Given the description of an element on the screen output the (x, y) to click on. 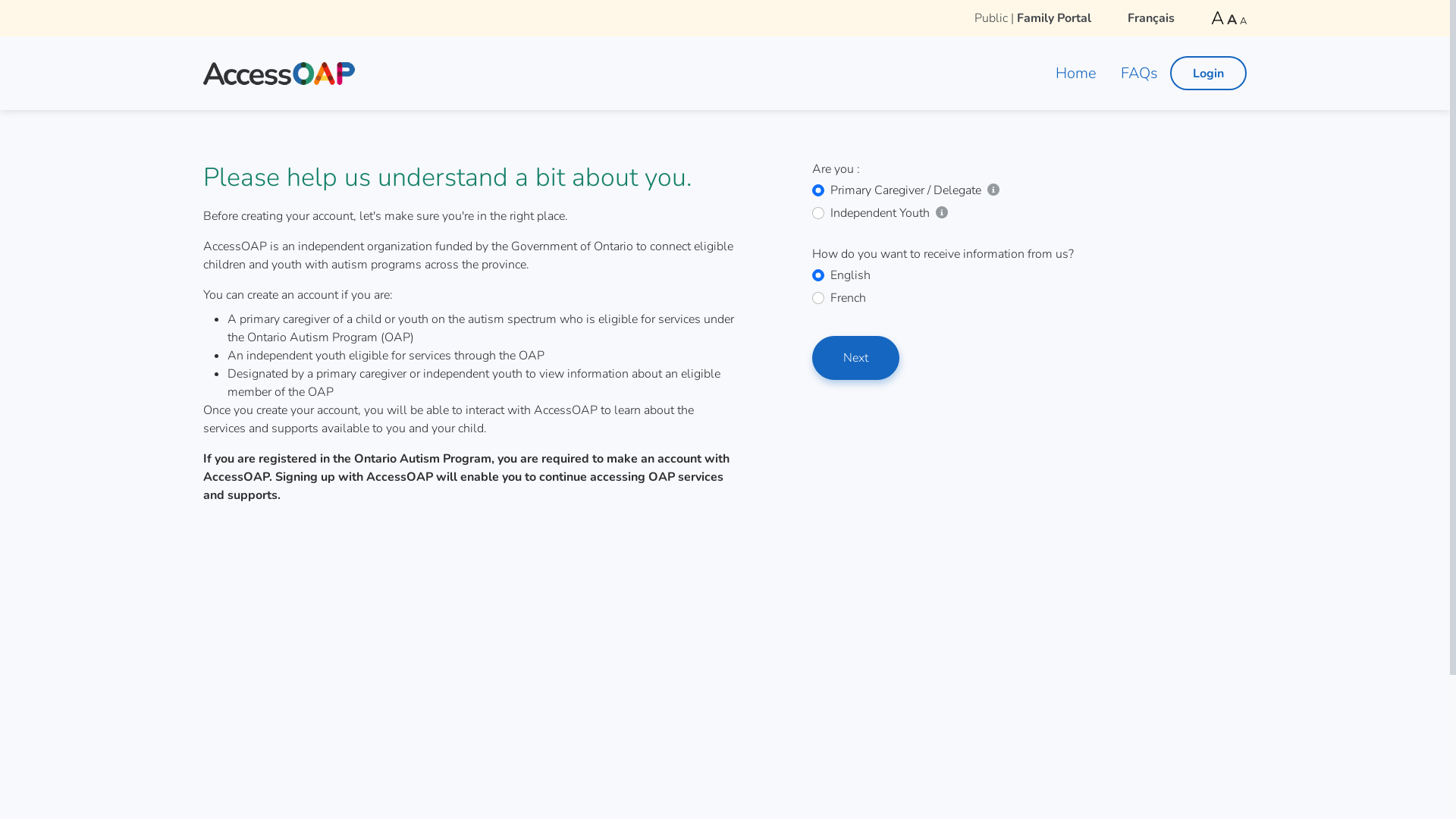
Family Portal Element type: text (1053, 17)
FAQs Element type: text (1139, 72)
Login Element type: text (1208, 73)
Public Element type: text (990, 17)
Next Element type: text (855, 357)
A Element type: text (1217, 17)
AccessOAP Element type: text (278, 72)
A Element type: text (1242, 21)
Home Element type: text (1075, 72)
A Element type: text (1231, 19)
